Given the description of an element on the screen output the (x, y) to click on. 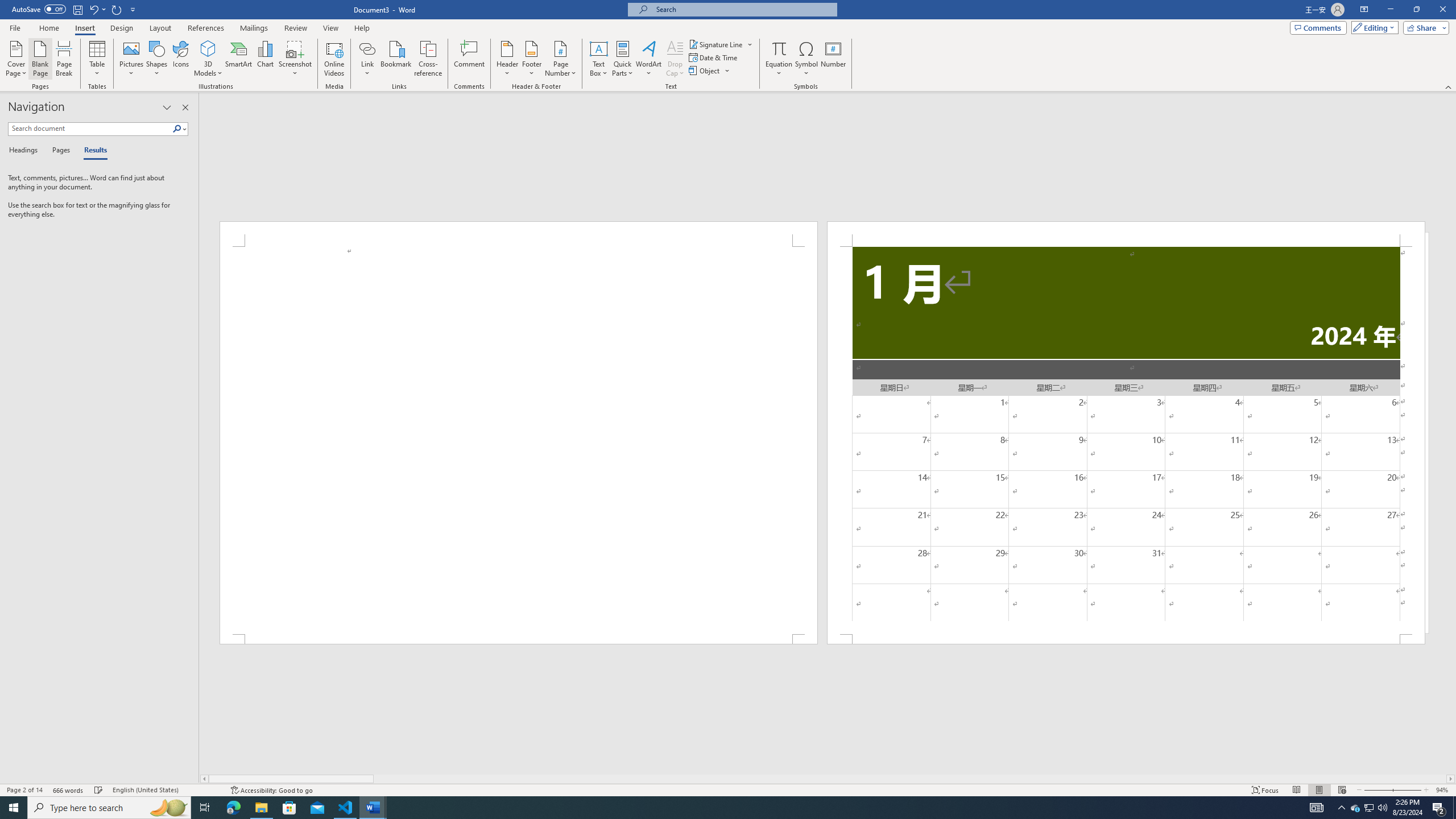
Object... (709, 69)
3D Models (208, 48)
Equation (778, 48)
Bookmark... (396, 58)
Object... (705, 69)
